Given the description of an element on the screen output the (x, y) to click on. 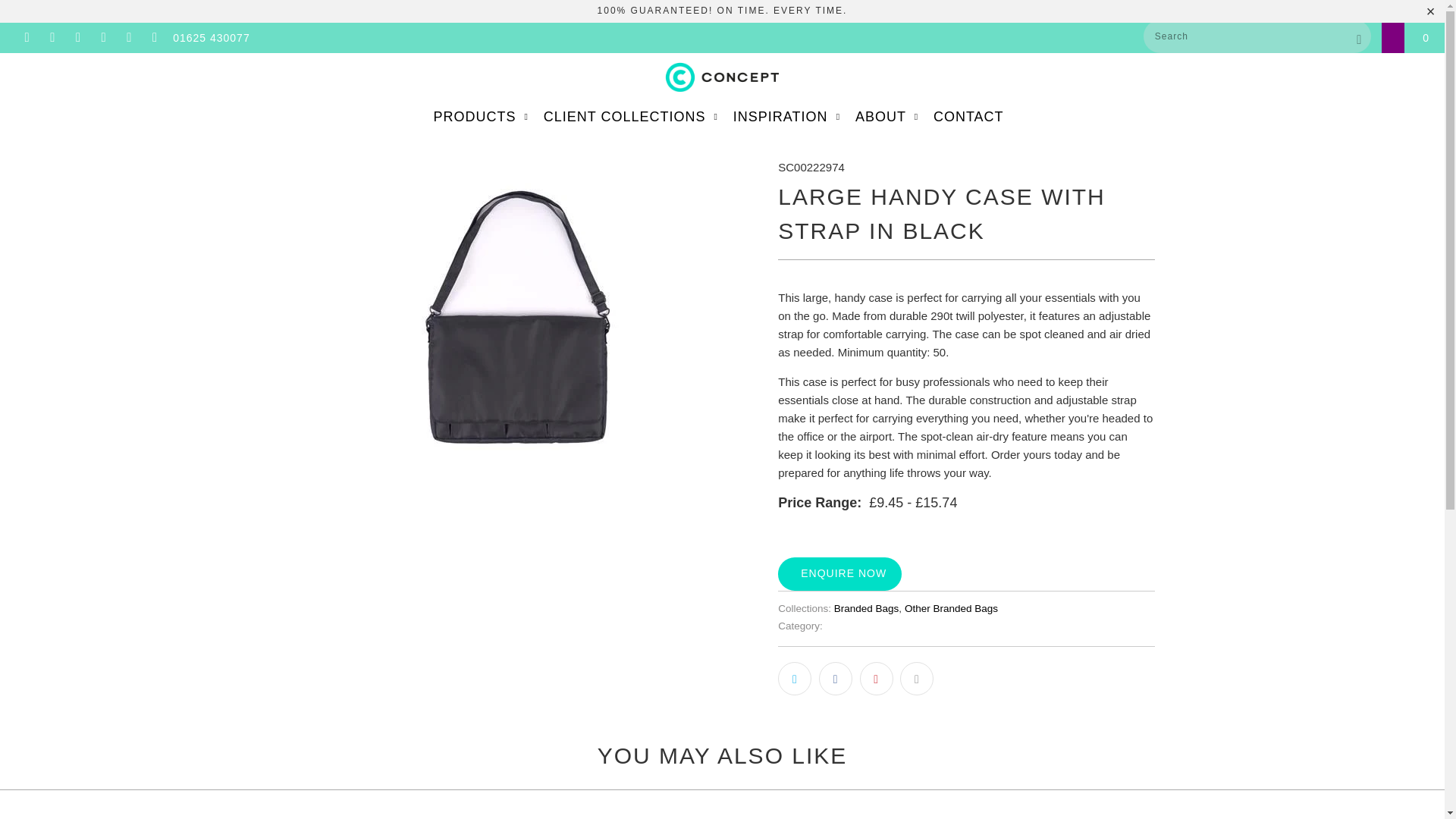
Concept Incentives on Facebook (52, 37)
Branded Bags (866, 608)
Share this on Facebook (834, 678)
Other Branded Bags (950, 608)
Concept Incentives on Instagram (103, 37)
Email Concept Incentives (154, 37)
Email this to a friend (916, 678)
Share this on Twitter (793, 678)
Concept Incentives on YouTube (76, 37)
Concept Incentives on Twitter (25, 37)
Share this on Pinterest (876, 678)
Concept Incentives on LinkedIn (128, 37)
